Given the description of an element on the screen output the (x, y) to click on. 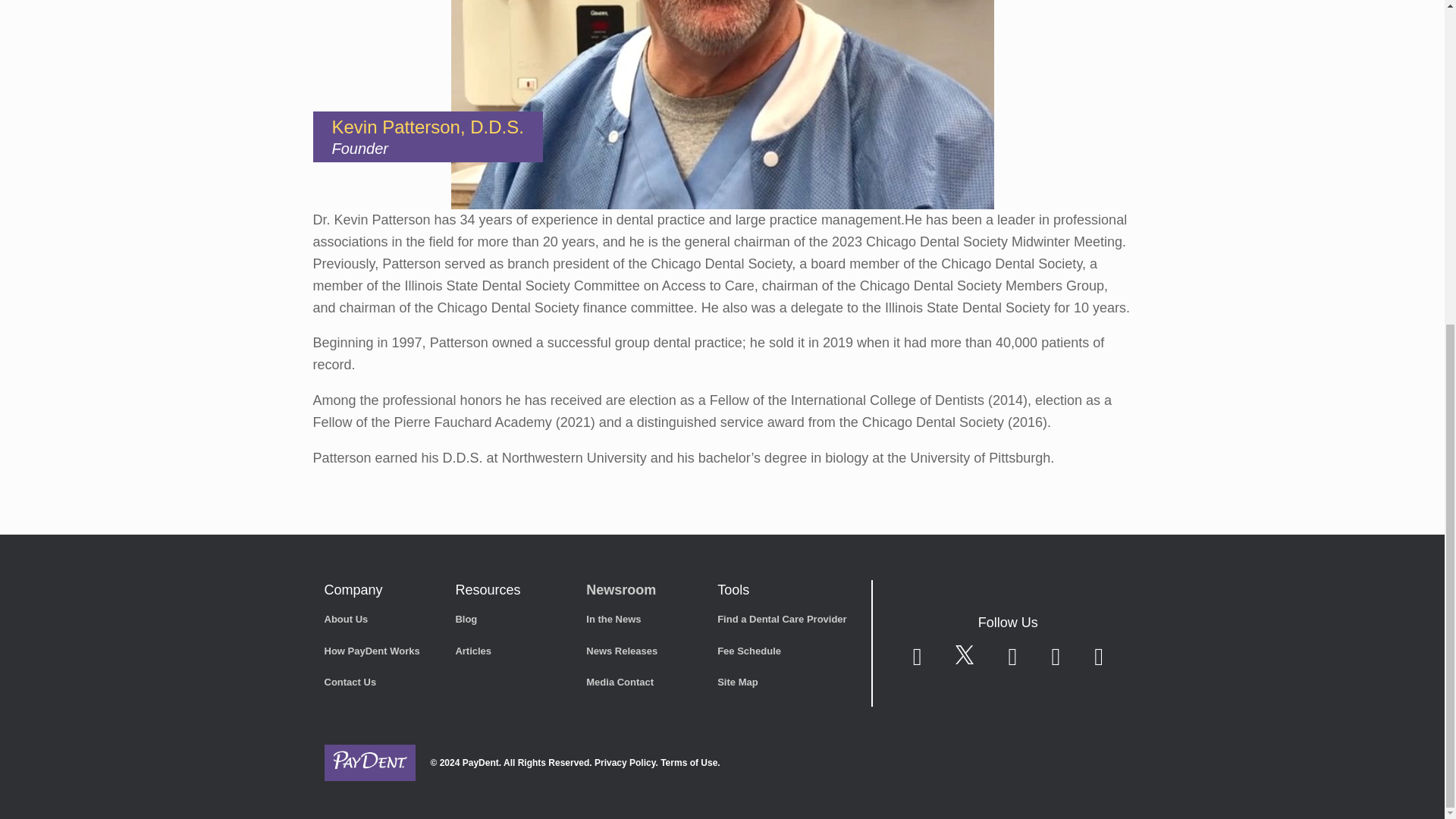
Kevin Patterson (720, 104)
